Given the description of an element on the screen output the (x, y) to click on. 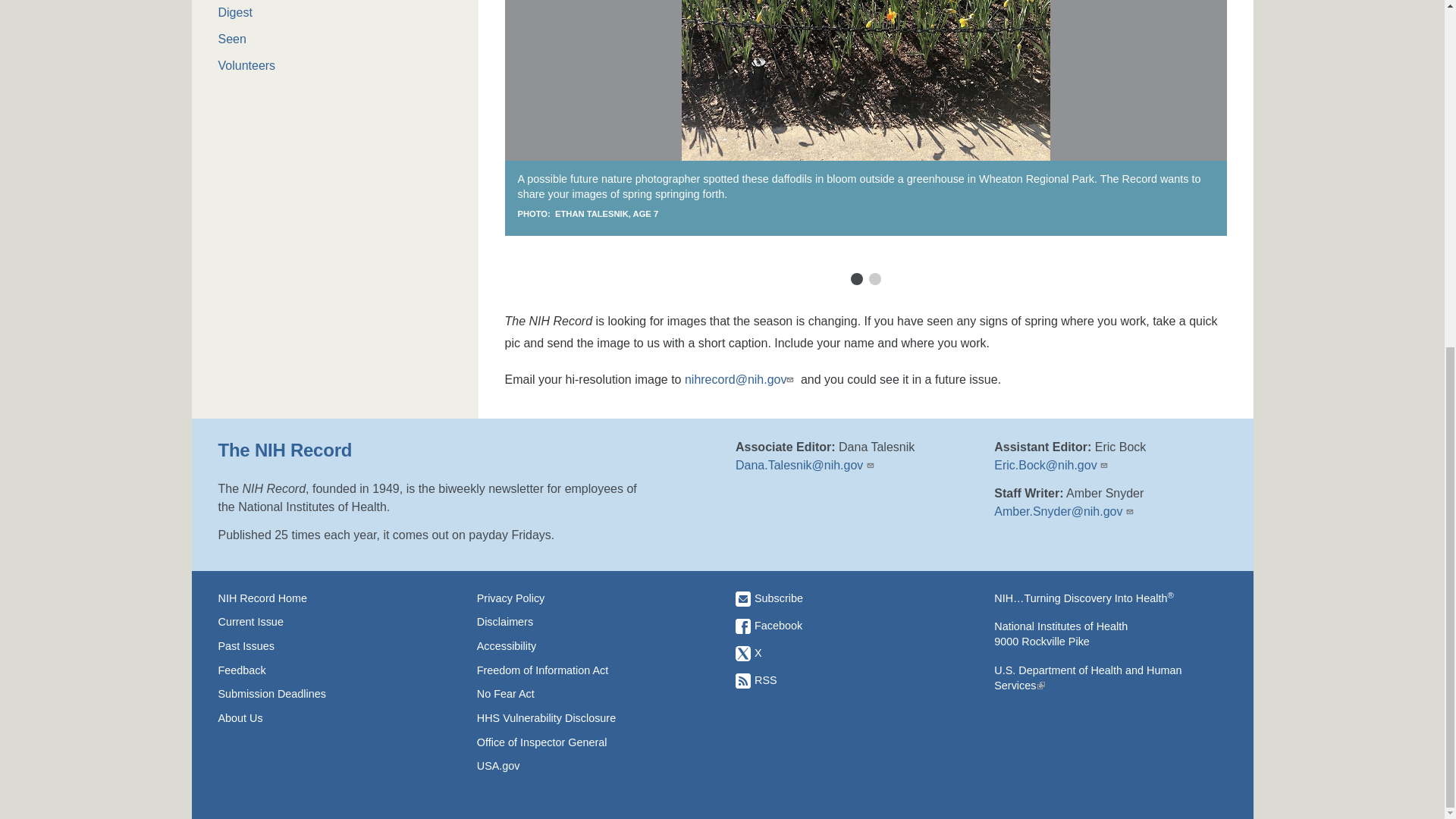
Seen (334, 39)
Volunteers (334, 65)
Digest (334, 12)
Spring springing forth (865, 80)
